Given the description of an element on the screen output the (x, y) to click on. 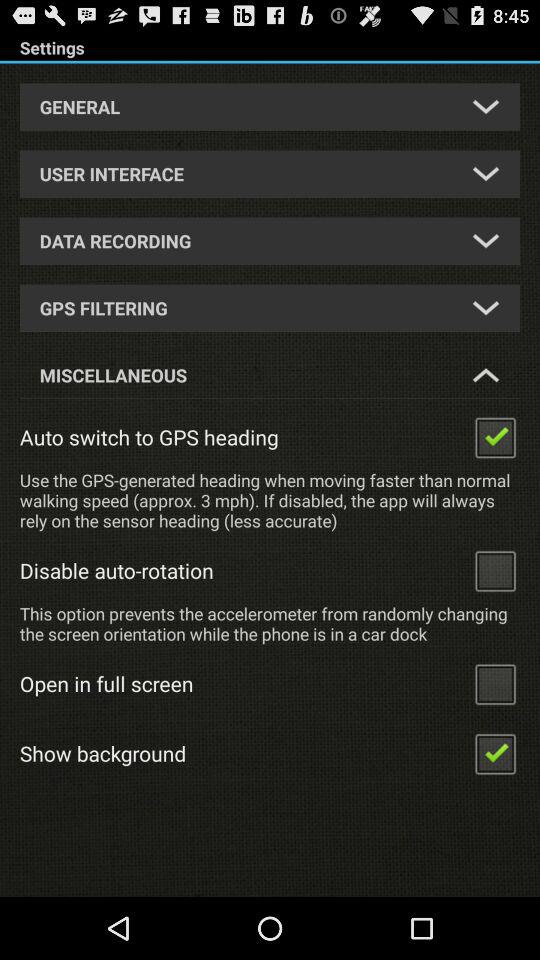
toggle gps heading option (495, 436)
